Given the description of an element on the screen output the (x, y) to click on. 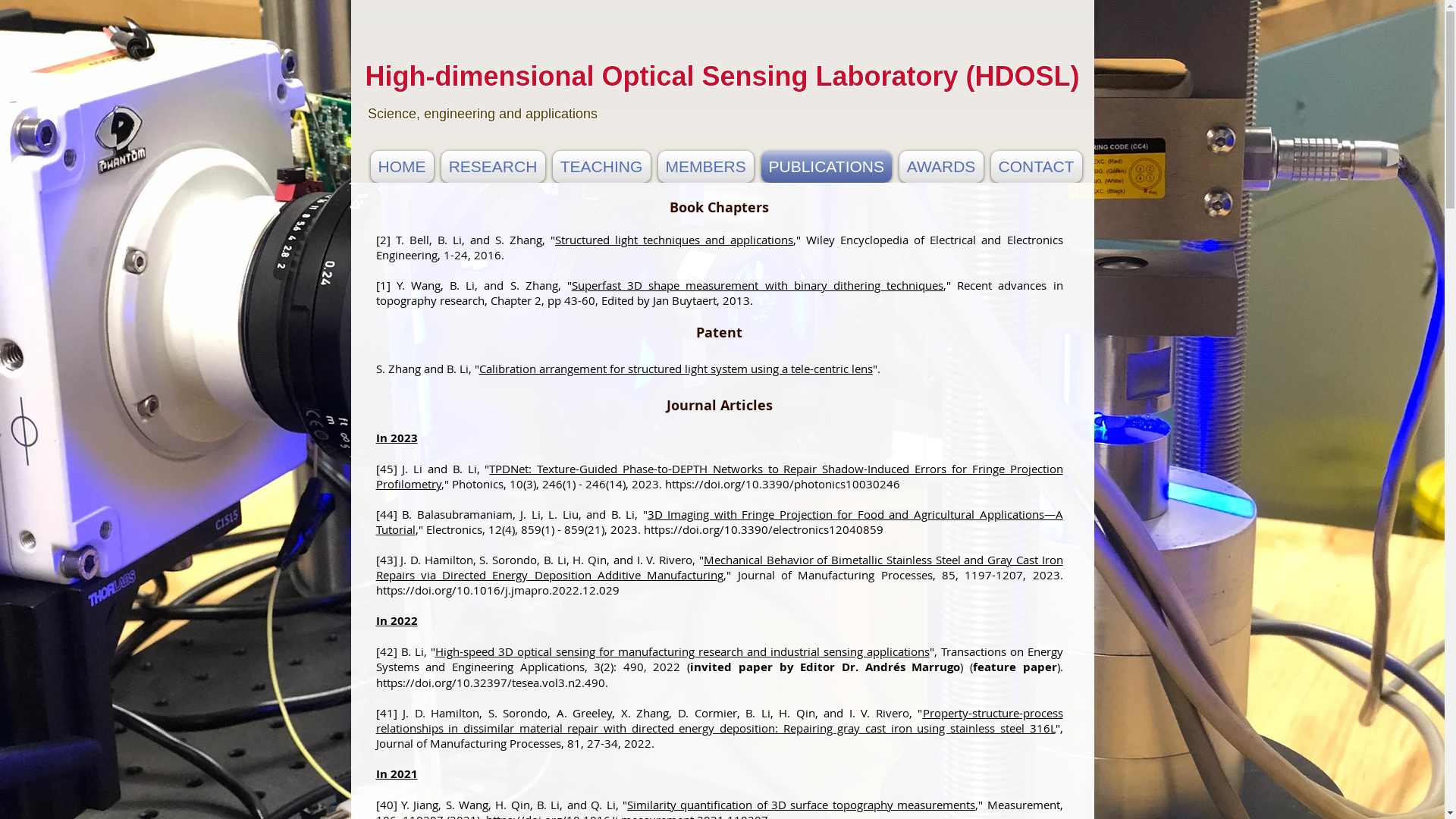
PUBLICATIONS Element type: text (825, 166)
TEACHING Element type: text (601, 166)
HOME Element type: text (402, 166)
https://doi.org/10.3390/electronics12040859  Element type: text (764, 528)
RESEARCH Element type: text (492, 166)
https://doi.org/10.1016/j.jmapro.2022.12.029 Element type: text (497, 589)
CONTACT Element type: text (1034, 166)
https://doi.org/10.3390/photonics10030246  Element type: text (783, 483)
AWARDS Element type: text (940, 166)
https://doi.org/10.32397/tesea.vol3.n2.490. Element type: text (492, 682)
MEMBERS Element type: text (704, 166)
Structured light techniques and applications Element type: text (674, 239)
